Given the description of an element on the screen output the (x, y) to click on. 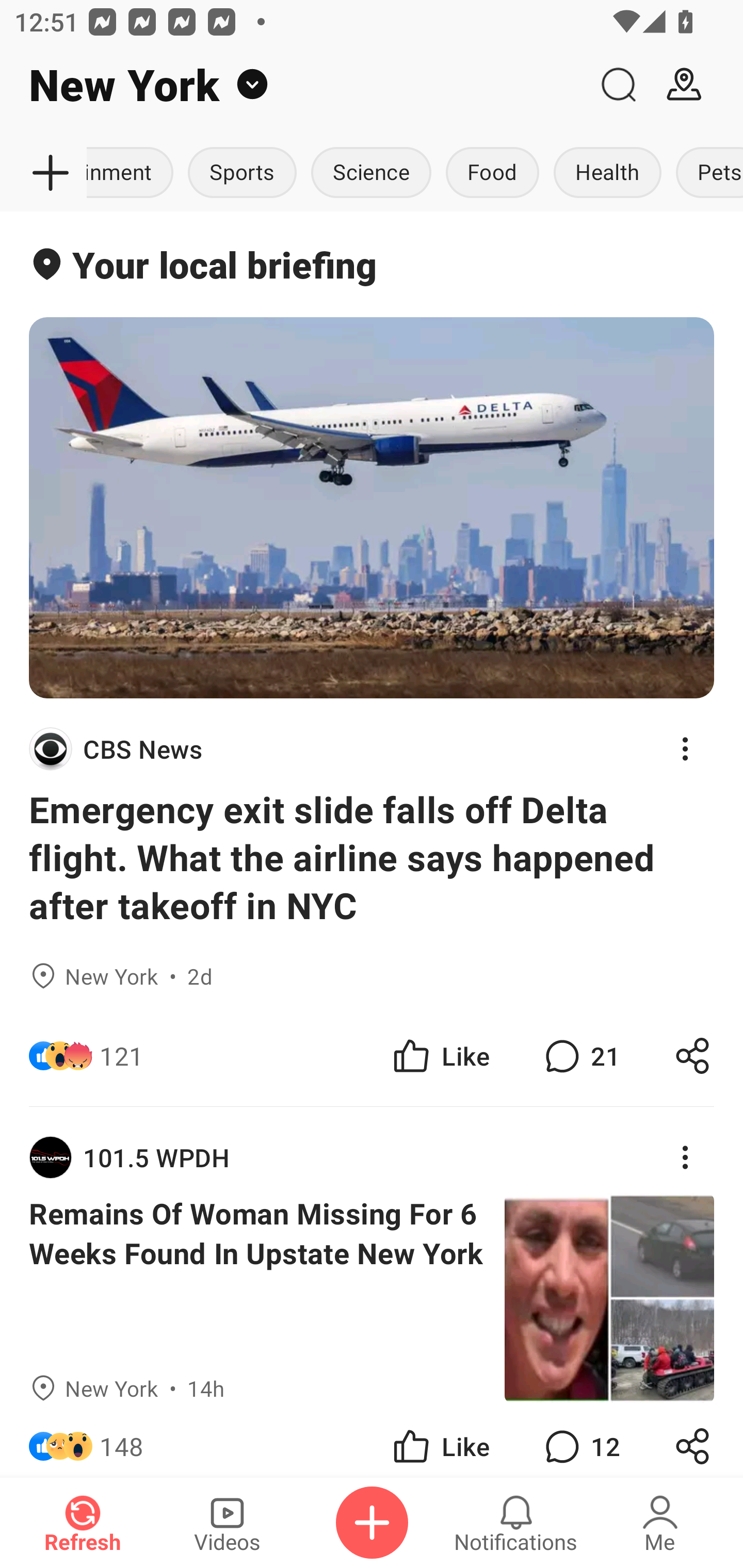
New York (292, 84)
Entertainment (133, 172)
Sports (241, 172)
Science (370, 172)
Food (492, 172)
Health (607, 172)
Pets (705, 172)
121 (121, 1055)
Like (439, 1055)
21 (579, 1055)
148 (121, 1440)
Like (439, 1440)
12 (579, 1440)
Videos (227, 1522)
Notifications (516, 1522)
Me (659, 1522)
